Given the description of an element on the screen output the (x, y) to click on. 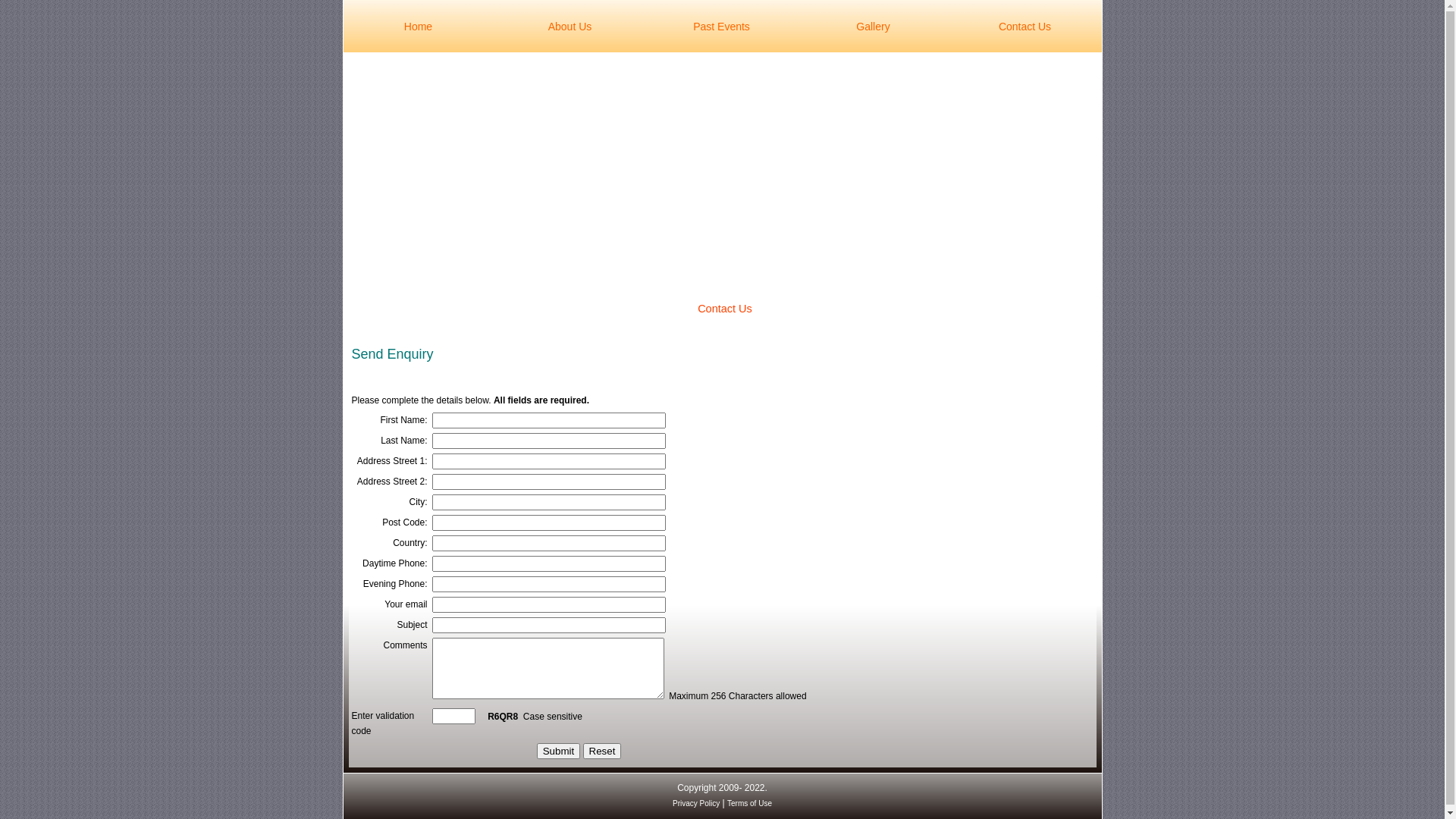
Submit Element type: text (558, 751)
About Us Element type: text (569, 26)
Terms of Use Element type: text (749, 803)
Contact Us Element type: text (1024, 26)
Gallery Element type: text (872, 26)
Past Events Element type: text (721, 26)
Home Element type: text (417, 26)
Privacy Policy Element type: text (695, 803)
